Given the description of an element on the screen output the (x, y) to click on. 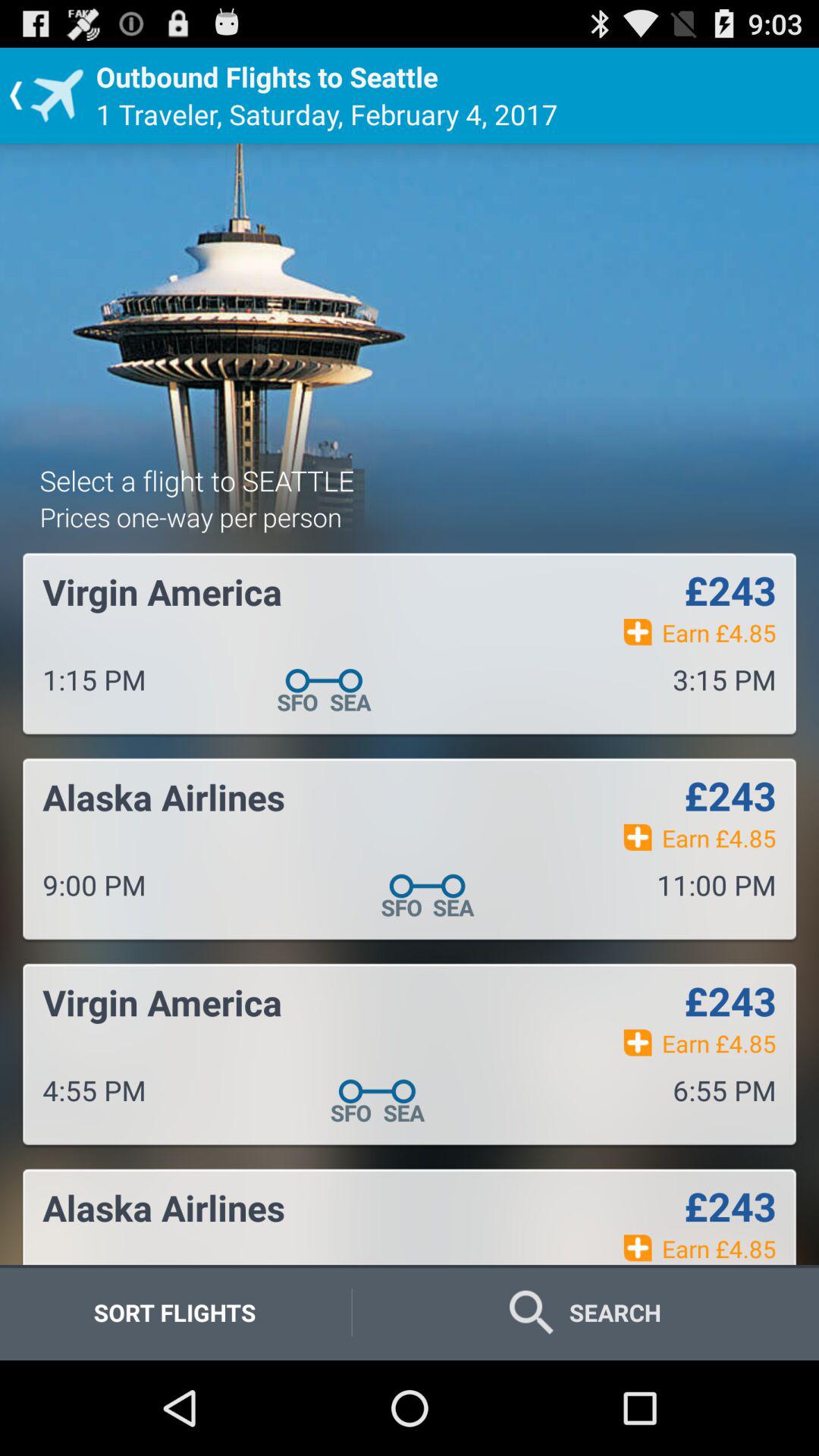
tap the app above virgin america icon (190, 516)
